Given the description of an element on the screen output the (x, y) to click on. 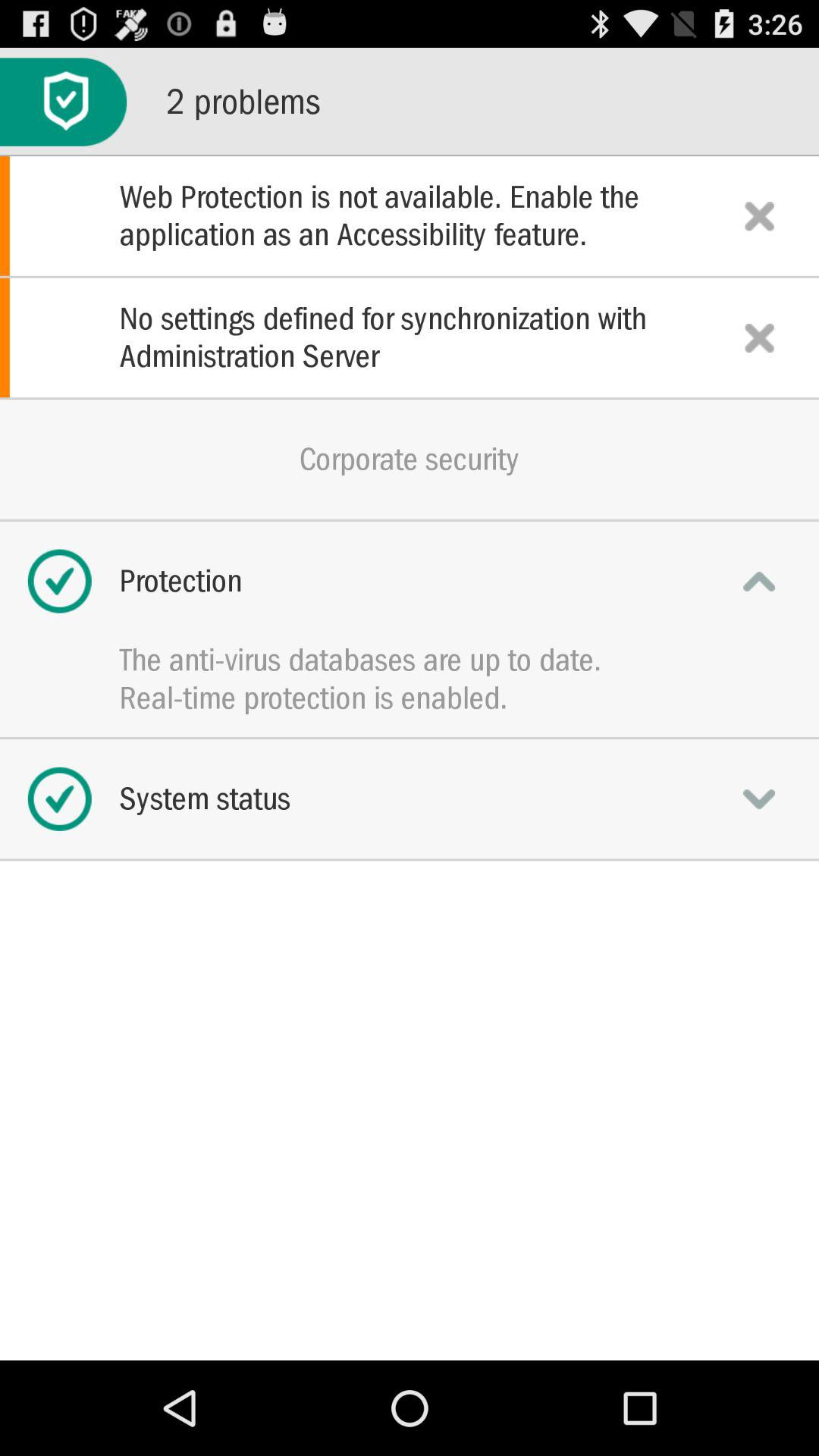
turn on item next to 2 problems (63, 102)
